Given the description of an element on the screen output the (x, y) to click on. 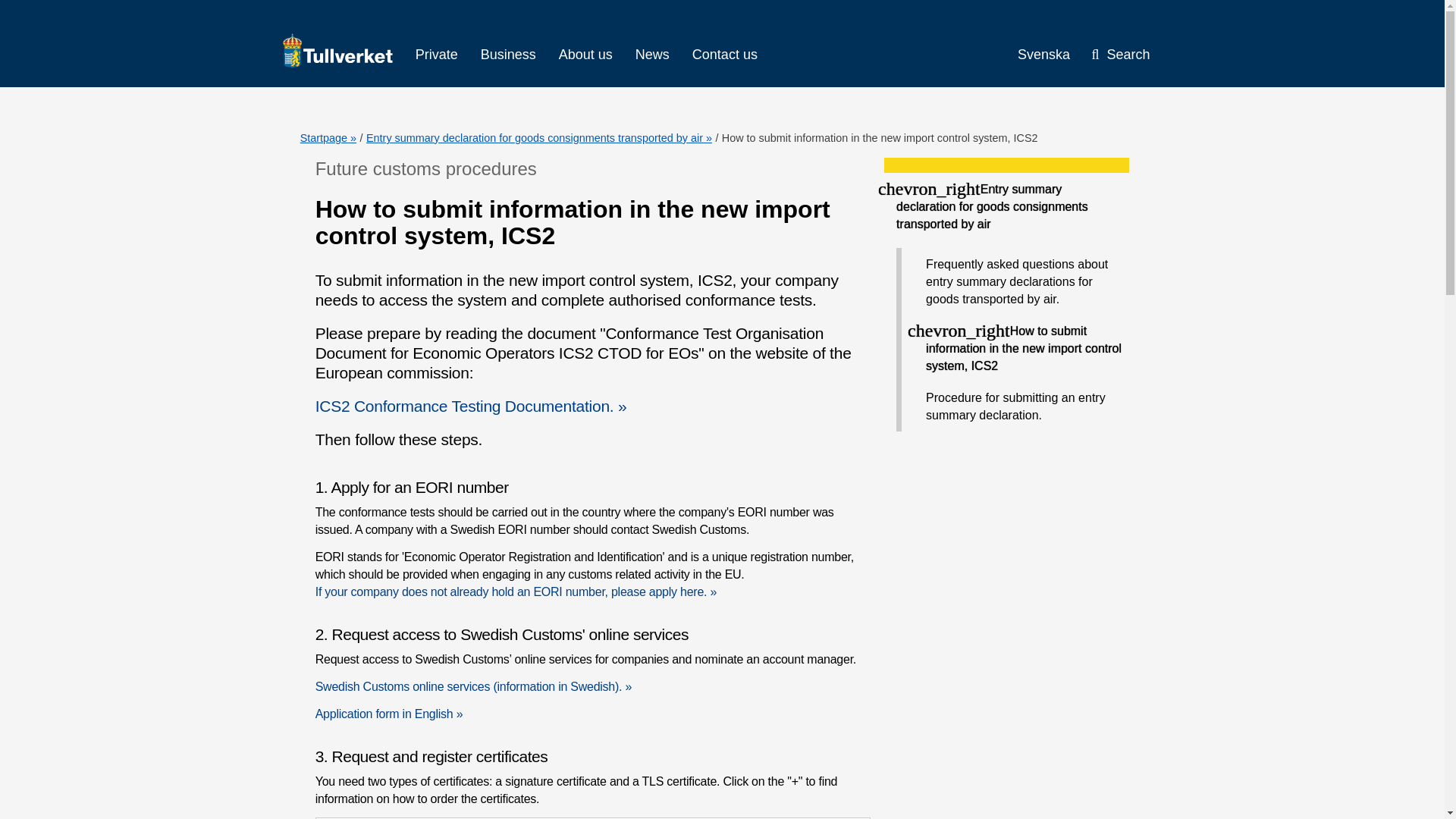
Application form in English (389, 713)
Svenska (1030, 54)
ICS2 Conformance Testing Documentation. (471, 405)
Private (436, 54)
About us (585, 54)
Business (507, 54)
Procedure for submitting an entry summary declaration. (1024, 406)
Contact us (724, 54)
Search (1120, 54)
